Given the description of an element on the screen output the (x, y) to click on. 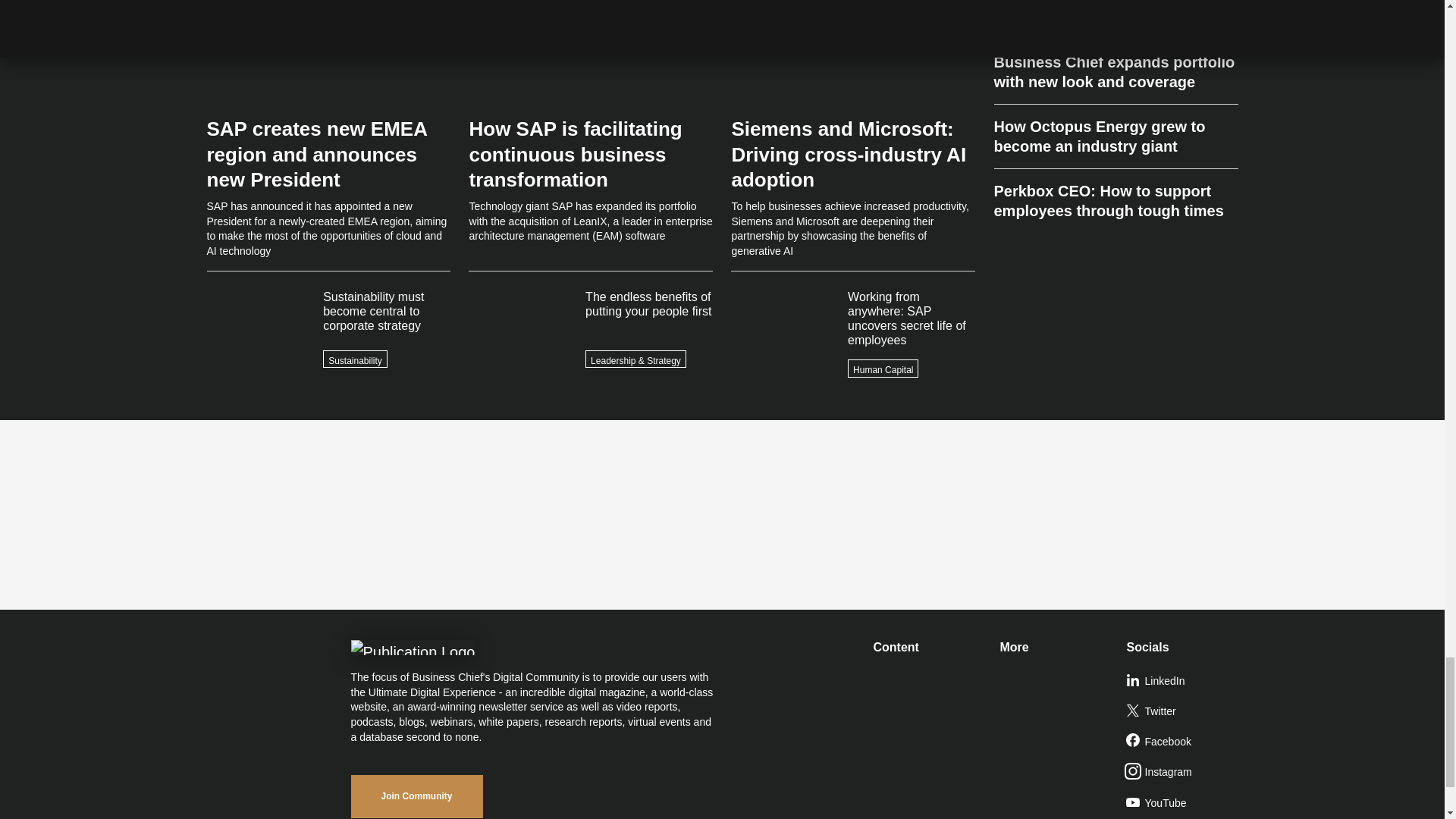
Business Chief expands portfolio with new look and coverage (1114, 72)
Abu Dhabi Airports prepares for Terminal A opening (1114, 20)
How Octopus Energy grew to become an industry giant (1114, 136)
